Given the description of an element on the screen output the (x, y) to click on. 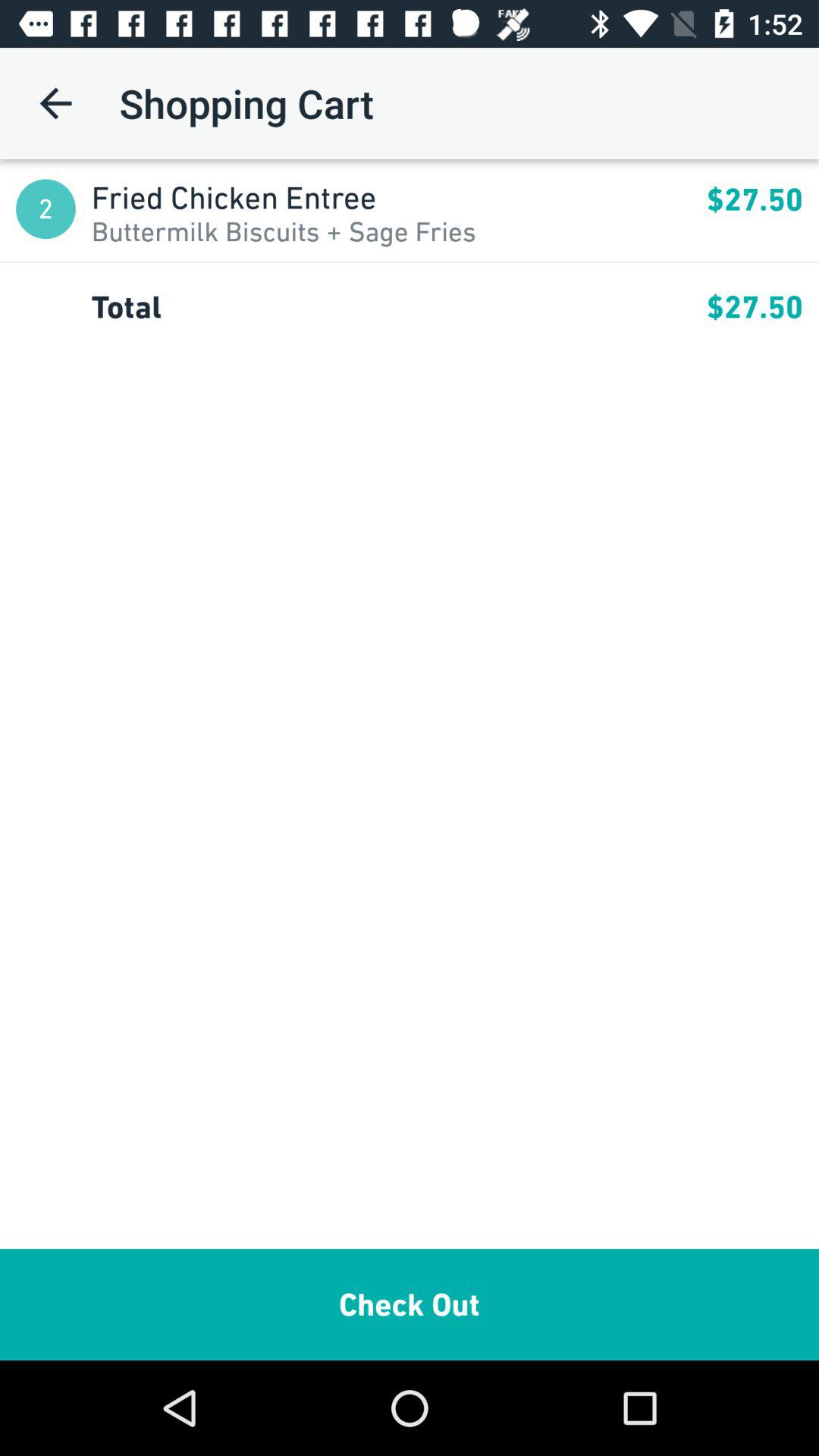
open item below buttermilk biscuits sage app (409, 261)
